Given the description of an element on the screen output the (x, y) to click on. 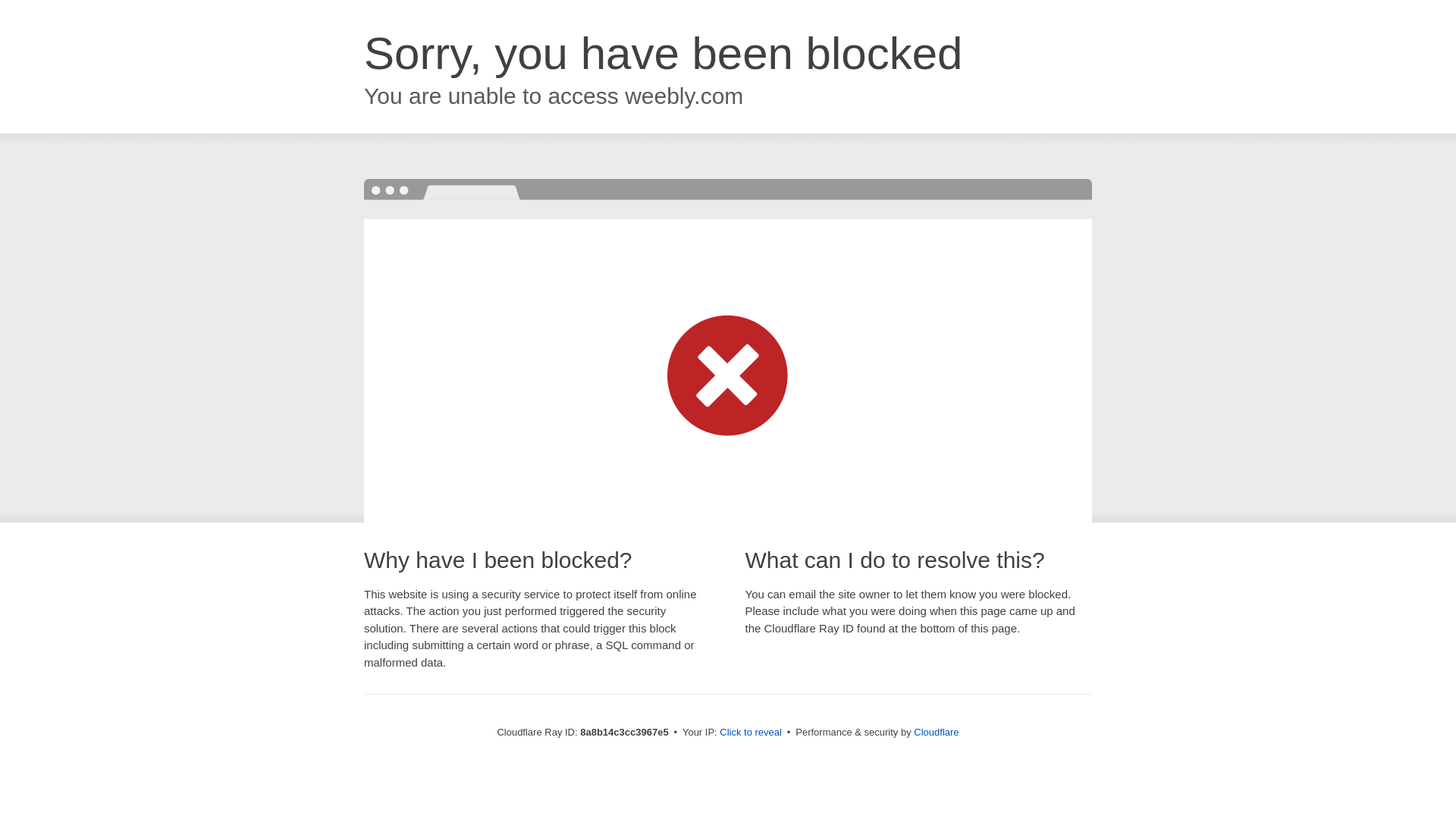
Cloudflare (936, 731)
Click to reveal (750, 732)
